Given the description of an element on the screen output the (x, y) to click on. 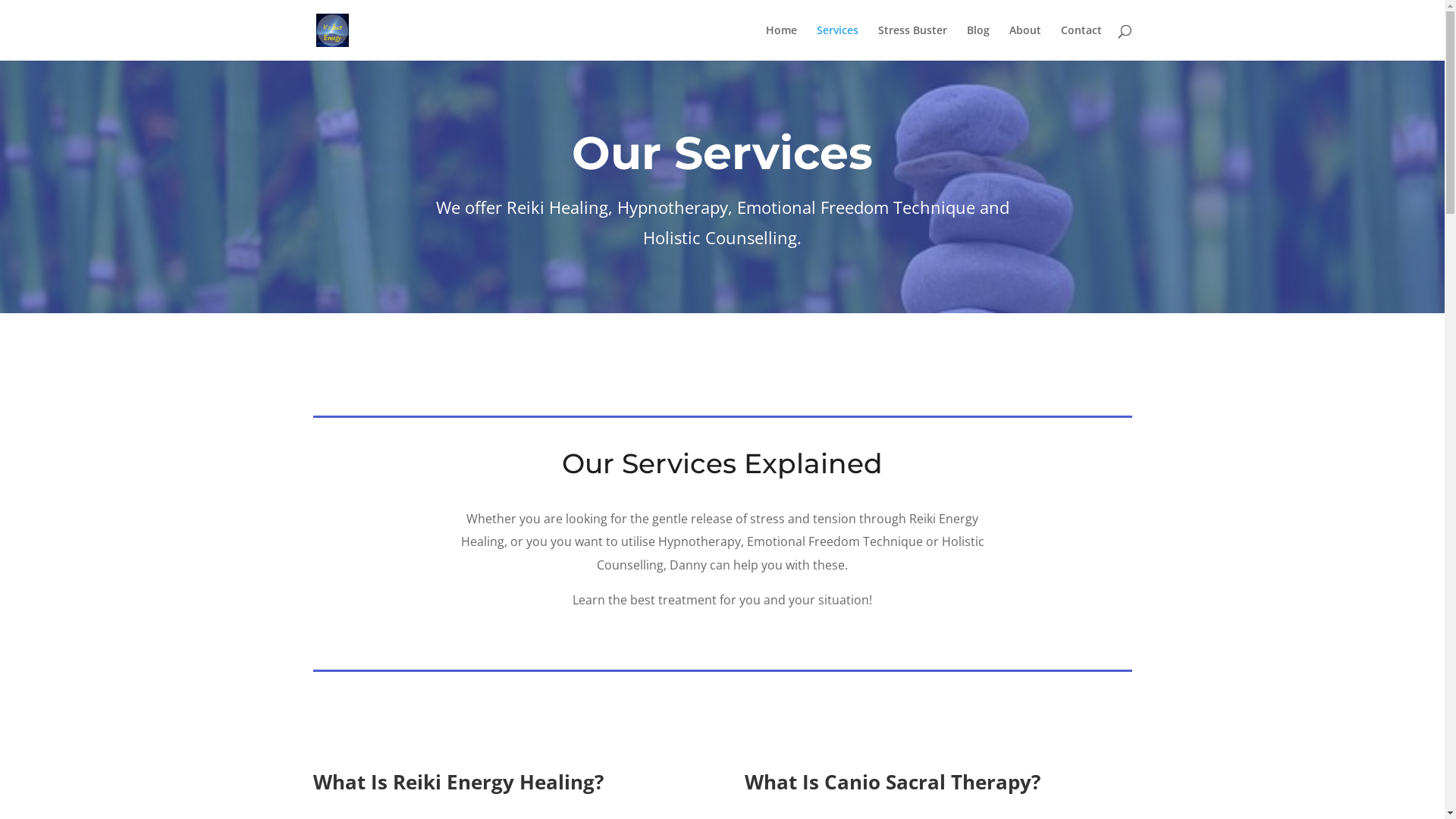
Contact Element type: text (1080, 42)
About Element type: text (1024, 42)
Home Element type: text (781, 42)
Blog Element type: text (977, 42)
Services Element type: text (836, 42)
Stress Buster Element type: text (912, 42)
